Given the description of an element on the screen output the (x, y) to click on. 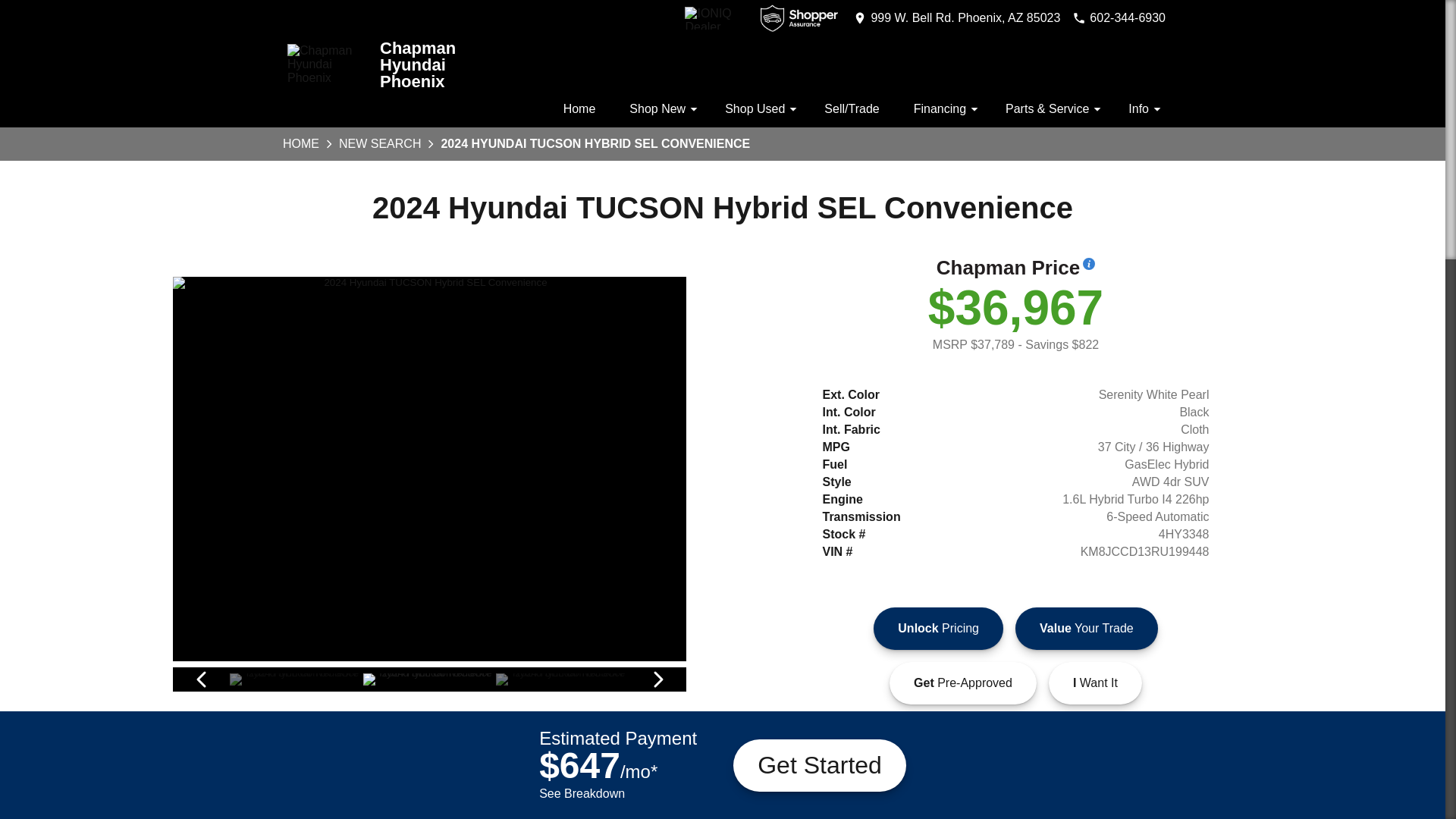
Shop New (659, 110)
Financing (942, 110)
Chapman Hyundai Phoenix (424, 65)
Shop Used (757, 110)
Home (579, 110)
602-344-6930 (1118, 18)
999 W. Bell Rd. Phoenix, AZ 85023 (956, 18)
